Given the description of an element on the screen output the (x, y) to click on. 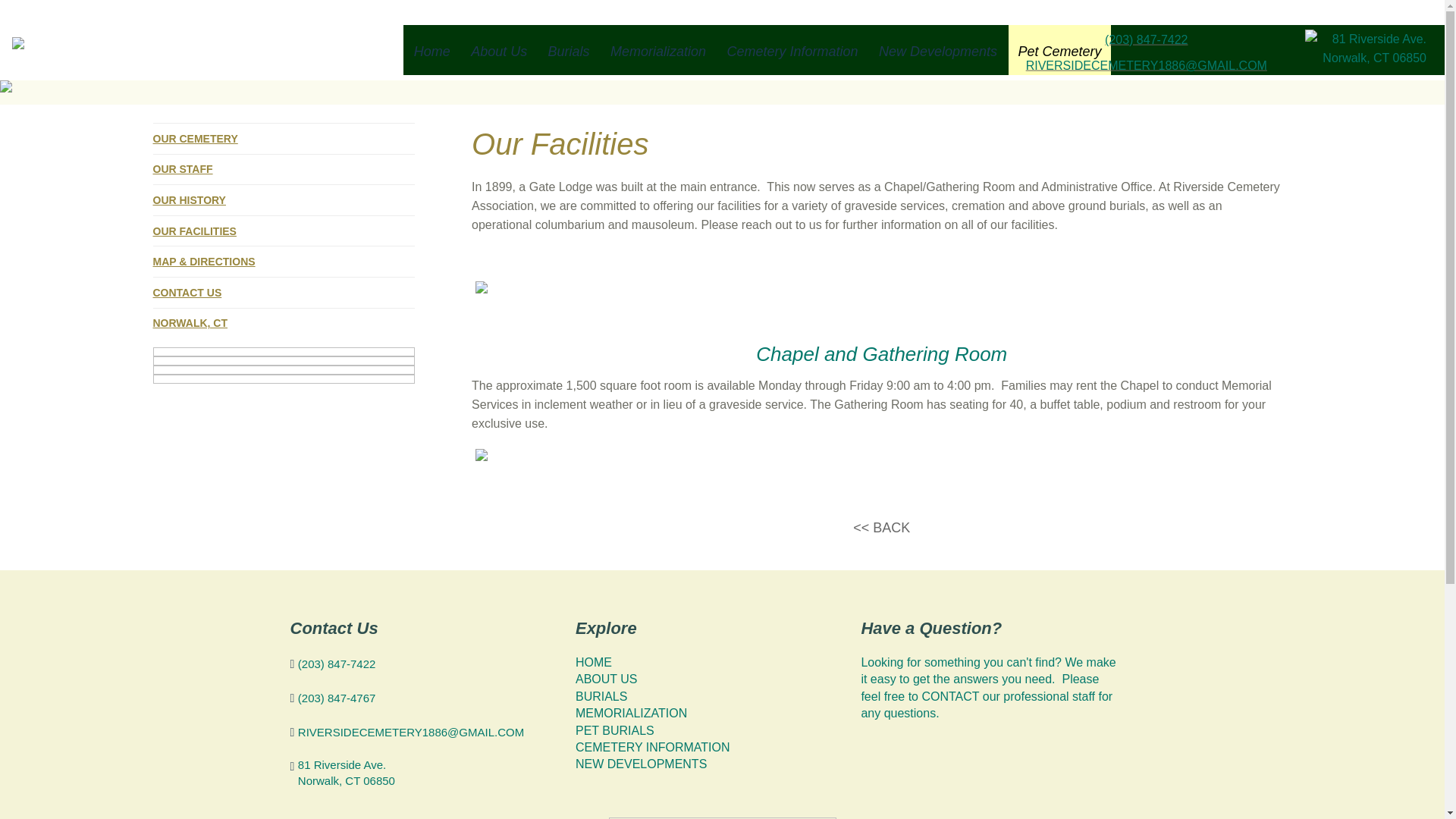
OUR CEMETERY (195, 138)
New Developments (937, 50)
CONTACT US (187, 292)
Cemetery Information (792, 50)
NORWALK, CT (190, 322)
Home (432, 50)
BURIALS (601, 696)
OUR HISTORY (188, 200)
Burials (568, 50)
OUR FACILITIES (193, 231)
